Given the description of an element on the screen output the (x, y) to click on. 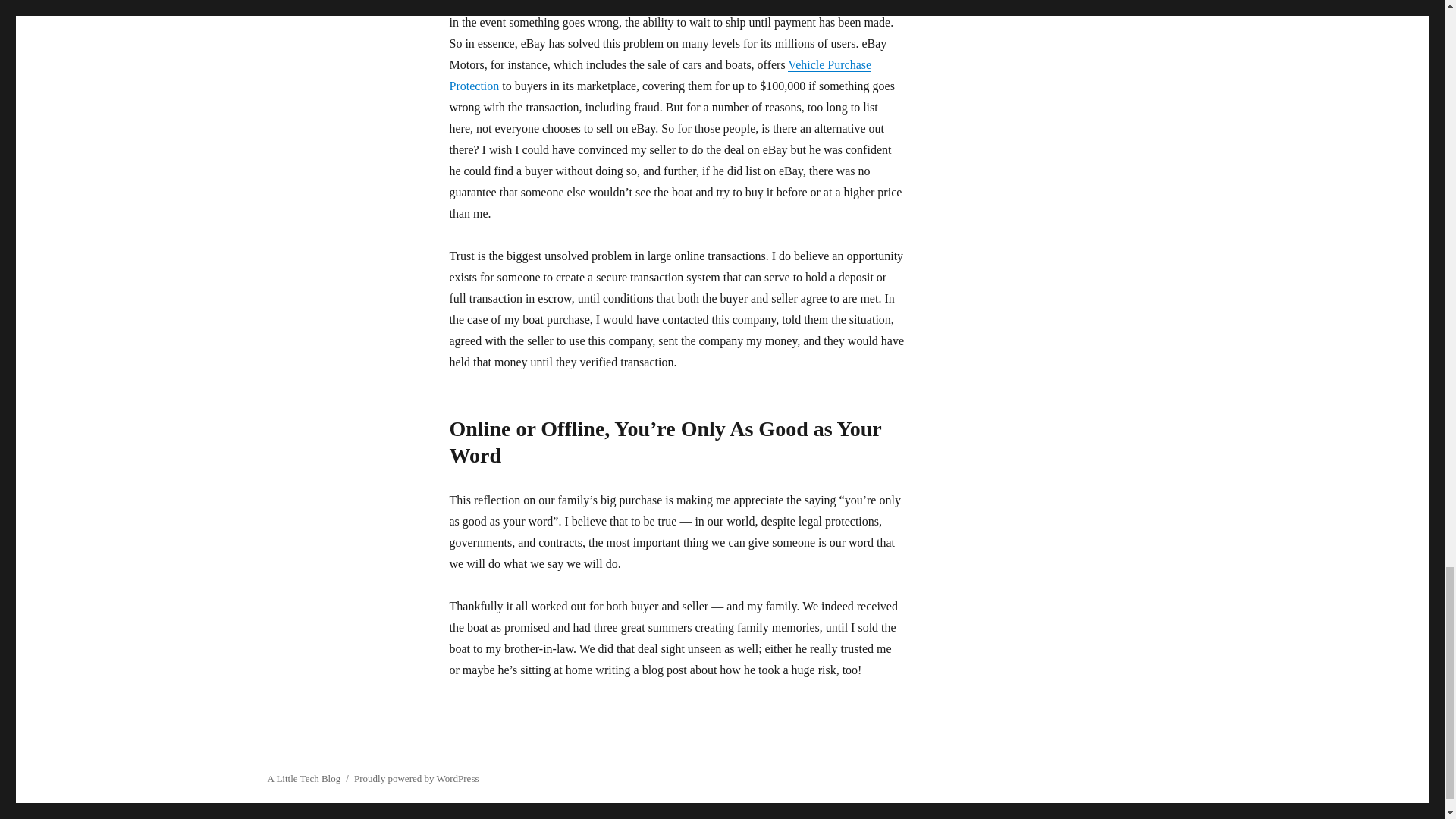
Proudly powered by WordPress (416, 778)
A Little Tech Blog (303, 778)
Vehicle Purchase Protection (659, 75)
